Given the description of an element on the screen output the (x, y) to click on. 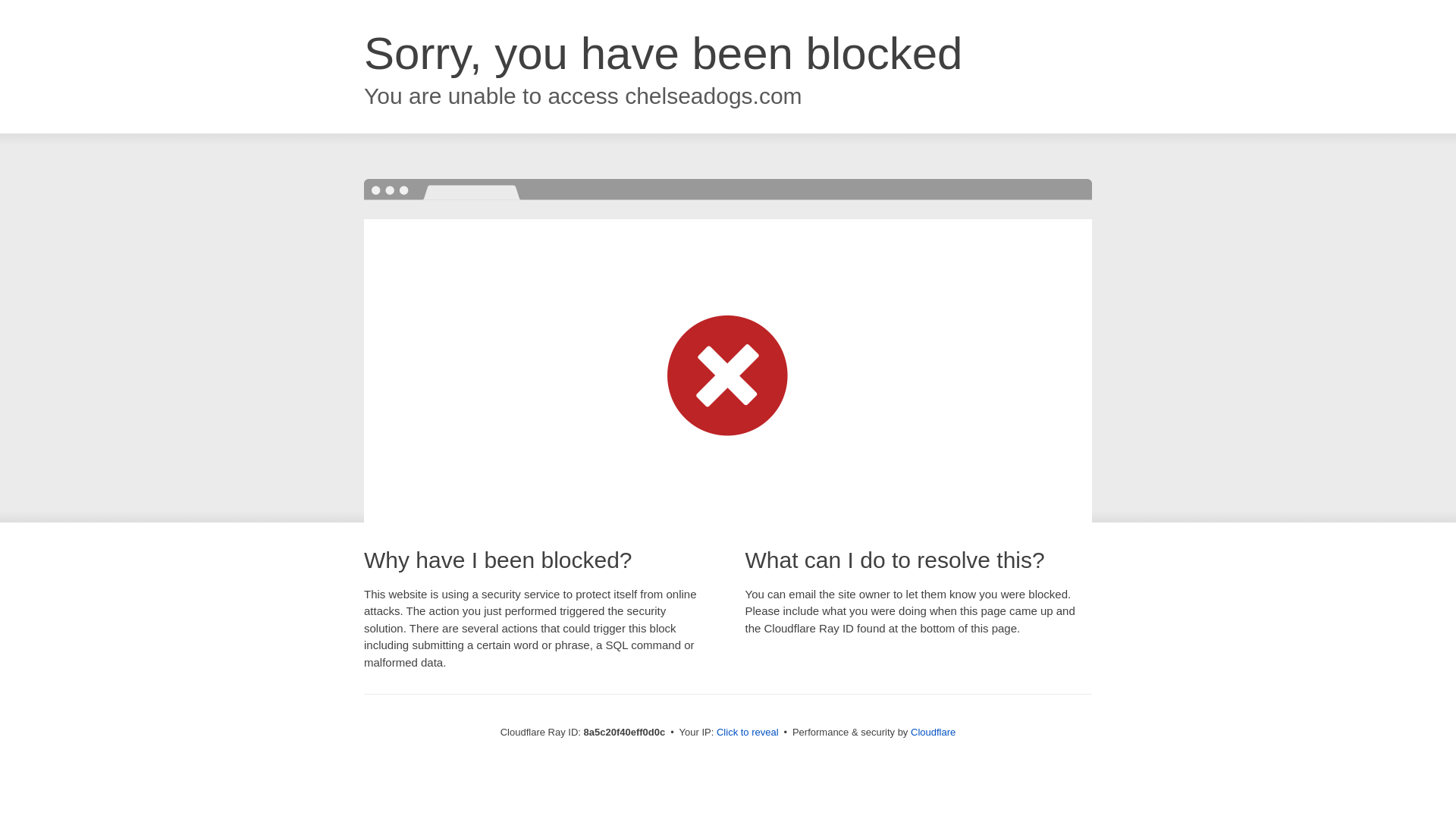
Click to reveal (747, 732)
Cloudflare (933, 731)
